Given the description of an element on the screen output the (x, y) to click on. 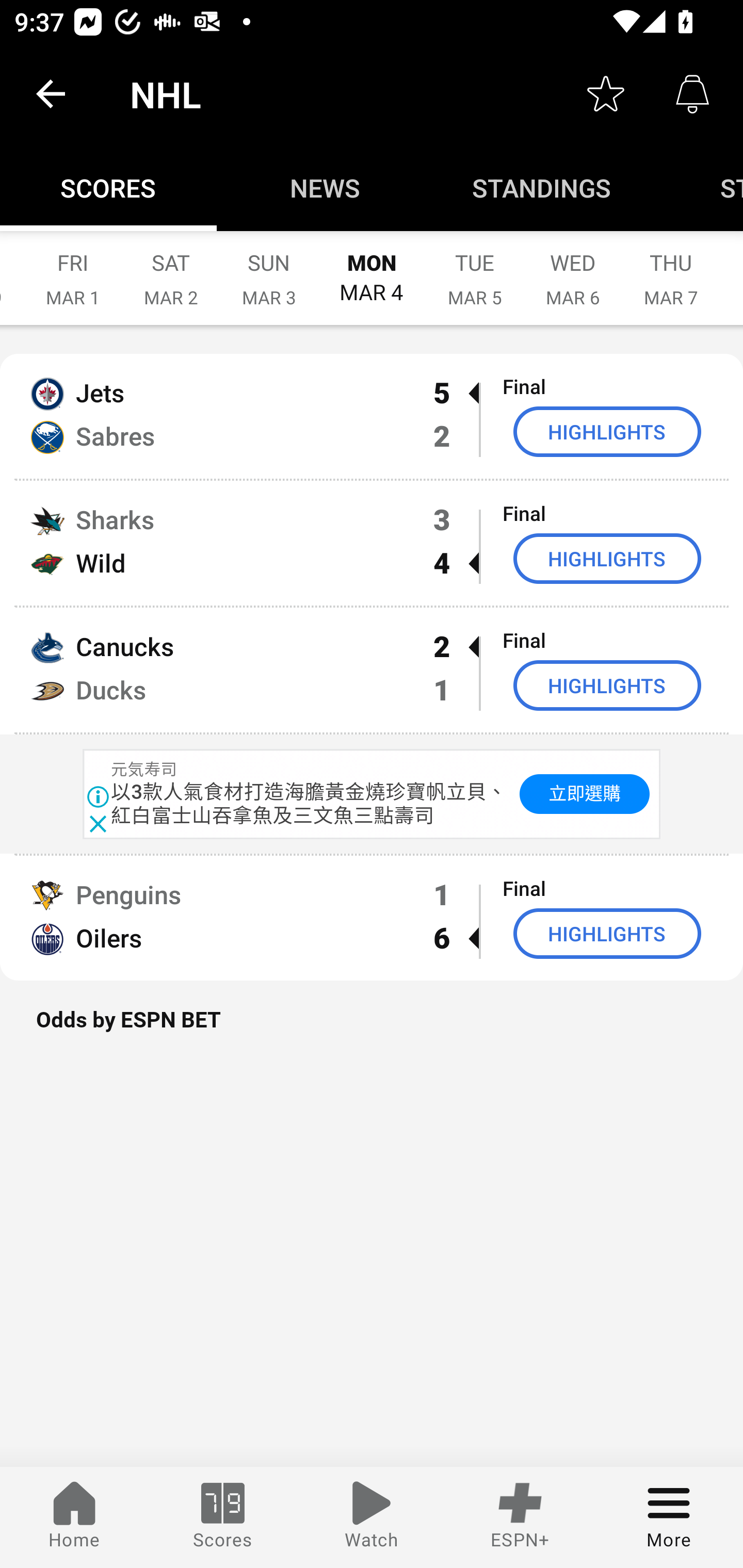
back.button (50, 93)
Favorite toggle (605, 93)
Alerts (692, 93)
News NEWS (324, 187)
Standings STANDINGS (541, 187)
FRI MAR 1 (72, 268)
SAT MAR 2 (170, 268)
SUN MAR 3 (268, 268)
MON MAR 4 (371, 267)
TUE MAR 5 (474, 268)
WED MAR 6 (572, 268)
THU MAR 7 (670, 268)
Jets 5  Final Sabres 2 HIGHLIGHTS (371, 416)
HIGHLIGHTS (607, 431)
Sharks 3 Final Wild 4  HIGHLIGHTS (371, 543)
HIGHLIGHTS (607, 558)
Canucks 2  Final Ducks 1 HIGHLIGHTS (371, 670)
HIGHLIGHTS (607, 685)
元気寿司 (143, 769)
立即選購 (584, 793)
Penguins 1 Final Oilers 6  HIGHLIGHTS (371, 918)
HIGHLIGHTS (607, 933)
Odds by ESPN BET (371, 1030)
Home (74, 1517)
Scores (222, 1517)
Watch (371, 1517)
ESPN+ (519, 1517)
